Given the description of an element on the screen output the (x, y) to click on. 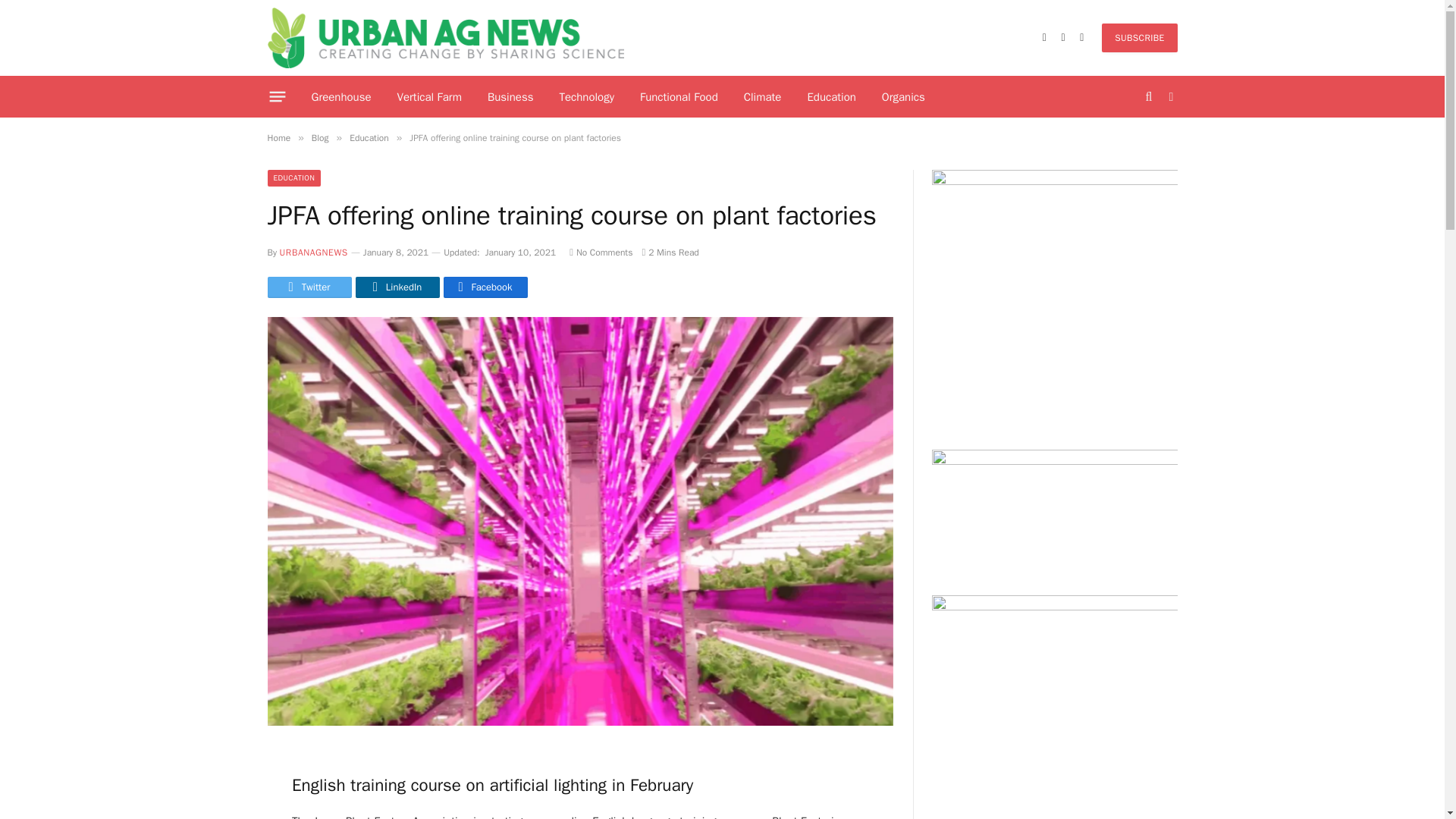
Organics (903, 96)
Vertical Farm (429, 96)
Technology (586, 96)
Urban Ag News (445, 38)
Climate (762, 96)
Functional Food (678, 96)
Blog (320, 137)
Share on LinkedIn (397, 287)
SUBSCRIBE (1139, 37)
URBANAGNEWS (313, 252)
